Given the description of an element on the screen output the (x, y) to click on. 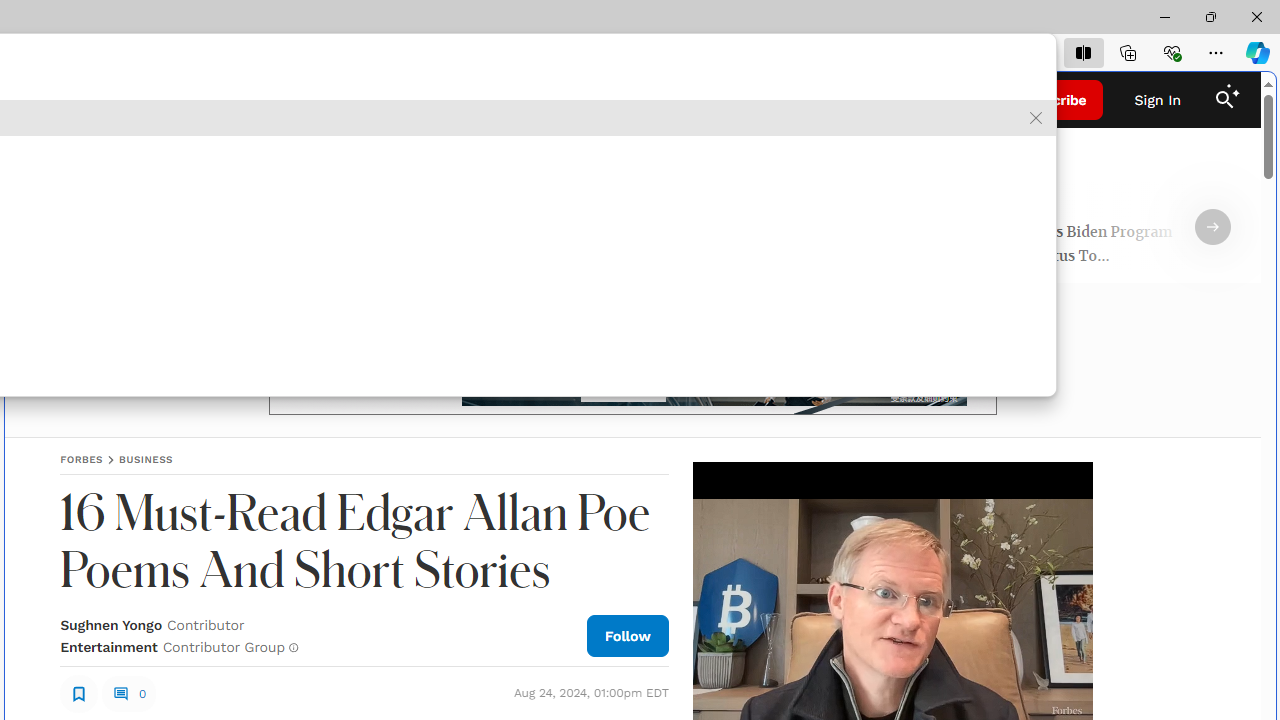
BUSINESS (145, 459)
Sughnen Yongo (111, 623)
Class: envelope_svg__fs-icon envelope_svg__fs-icon--envelope (262, 102)
Class: sElHJWe4 (79, 692)
Sign In (1157, 100)
Class: fs-icon fs-icon--info (293, 647)
Follow Author (627, 635)
Arrow Right (1213, 227)
Subscribe (1053, 99)
Forbes Logo (632, 99)
